Given the description of an element on the screen output the (x, y) to click on. 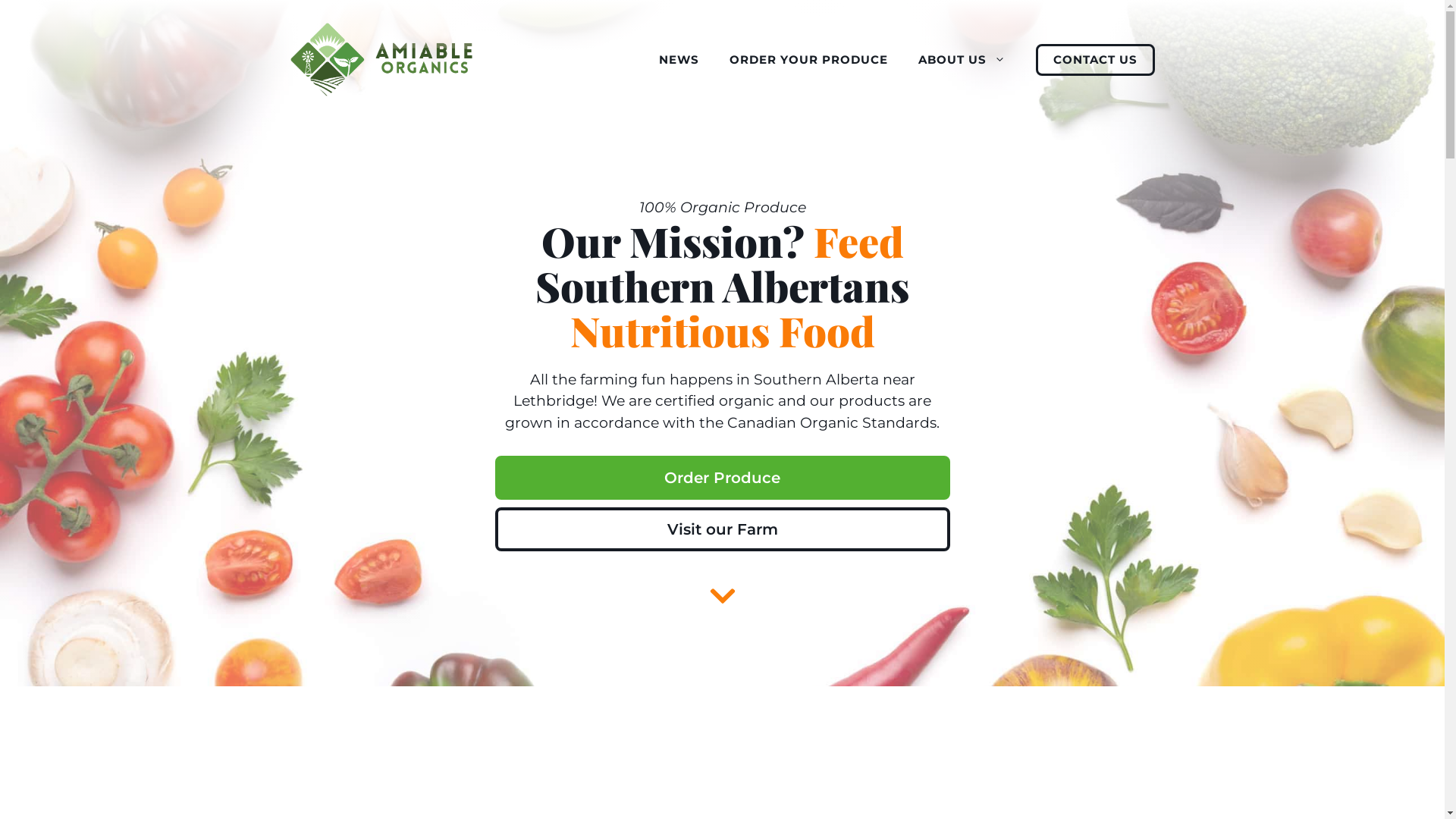
Order Produce Element type: text (721, 477)
ABOUT US Element type: text (960, 59)
ORDER YOUR PRODUCE Element type: text (808, 59)
CONTACT US Element type: text (1094, 59)
NEWS Element type: text (678, 59)
Visit our Farm Element type: text (721, 529)
